Given the description of an element on the screen output the (x, y) to click on. 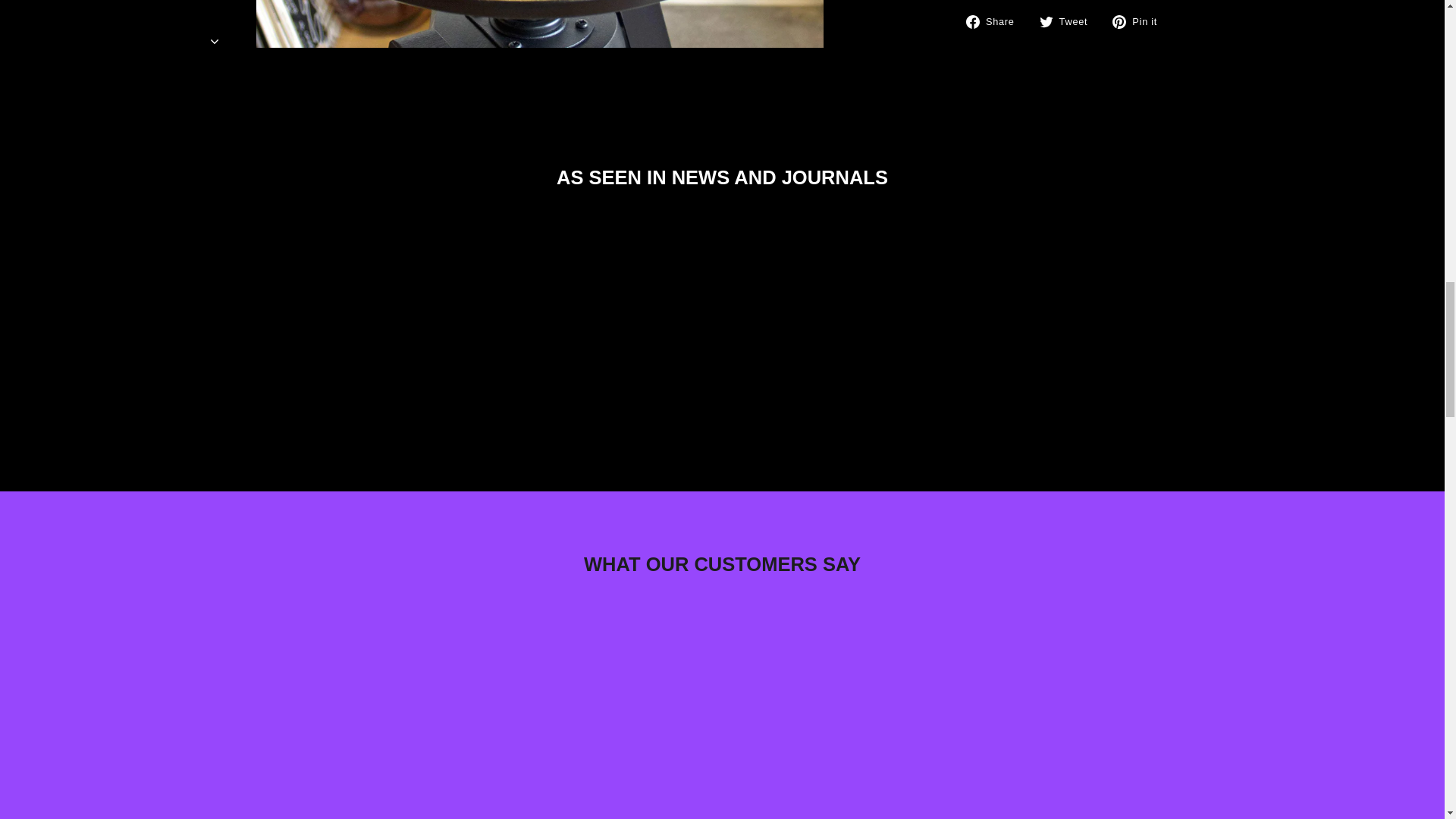
Pin on Pinterest (1140, 21)
Tweet on Twitter (1069, 21)
Share on Facebook (996, 21)
